Given the description of an element on the screen output the (x, y) to click on. 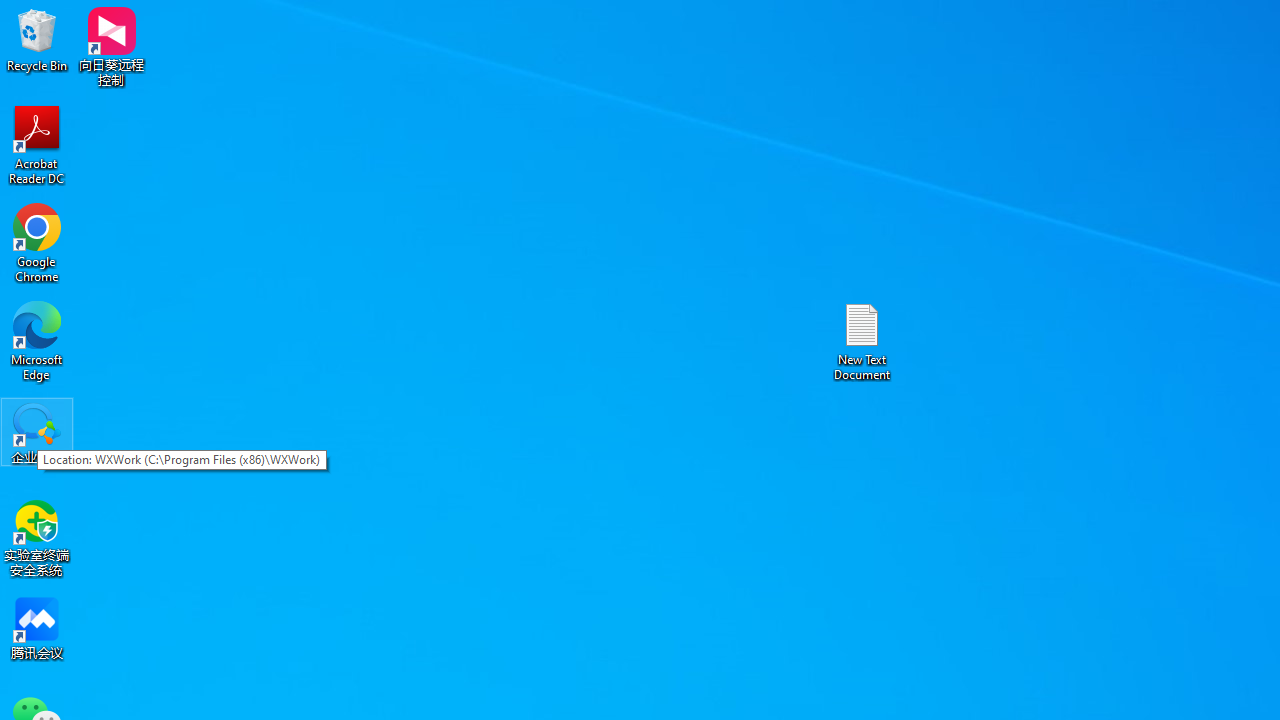
New Text Document (861, 340)
Recycle Bin (37, 39)
Google Chrome (37, 242)
Microsoft Edge (37, 340)
Acrobat Reader DC (37, 144)
